Given the description of an element on the screen output the (x, y) to click on. 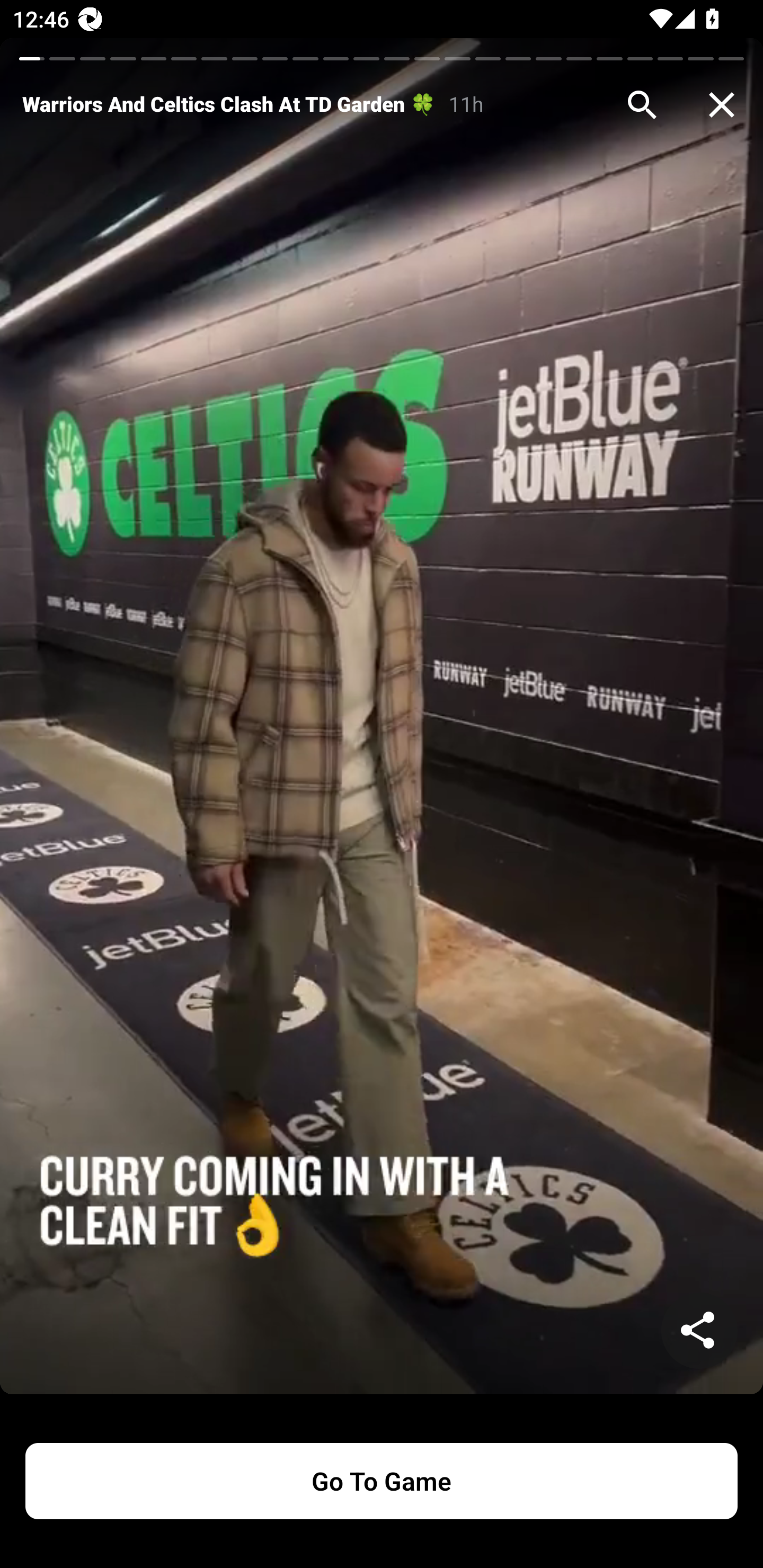
search (642, 104)
close (721, 104)
share (699, 1330)
Go To Game (381, 1480)
